Given the description of an element on the screen output the (x, y) to click on. 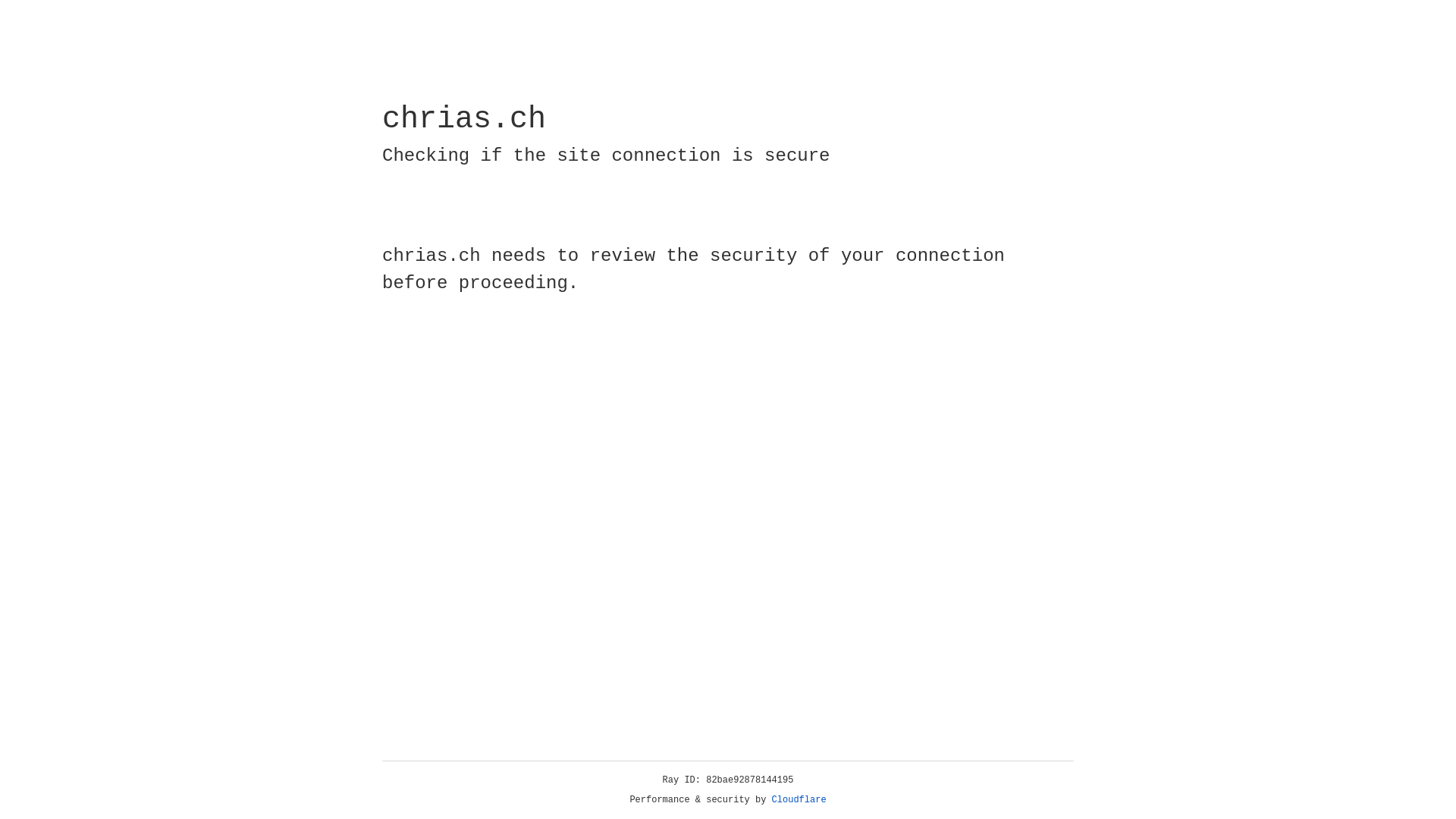
Cloudflare Element type: text (798, 799)
